Given the description of an element on the screen output the (x, y) to click on. 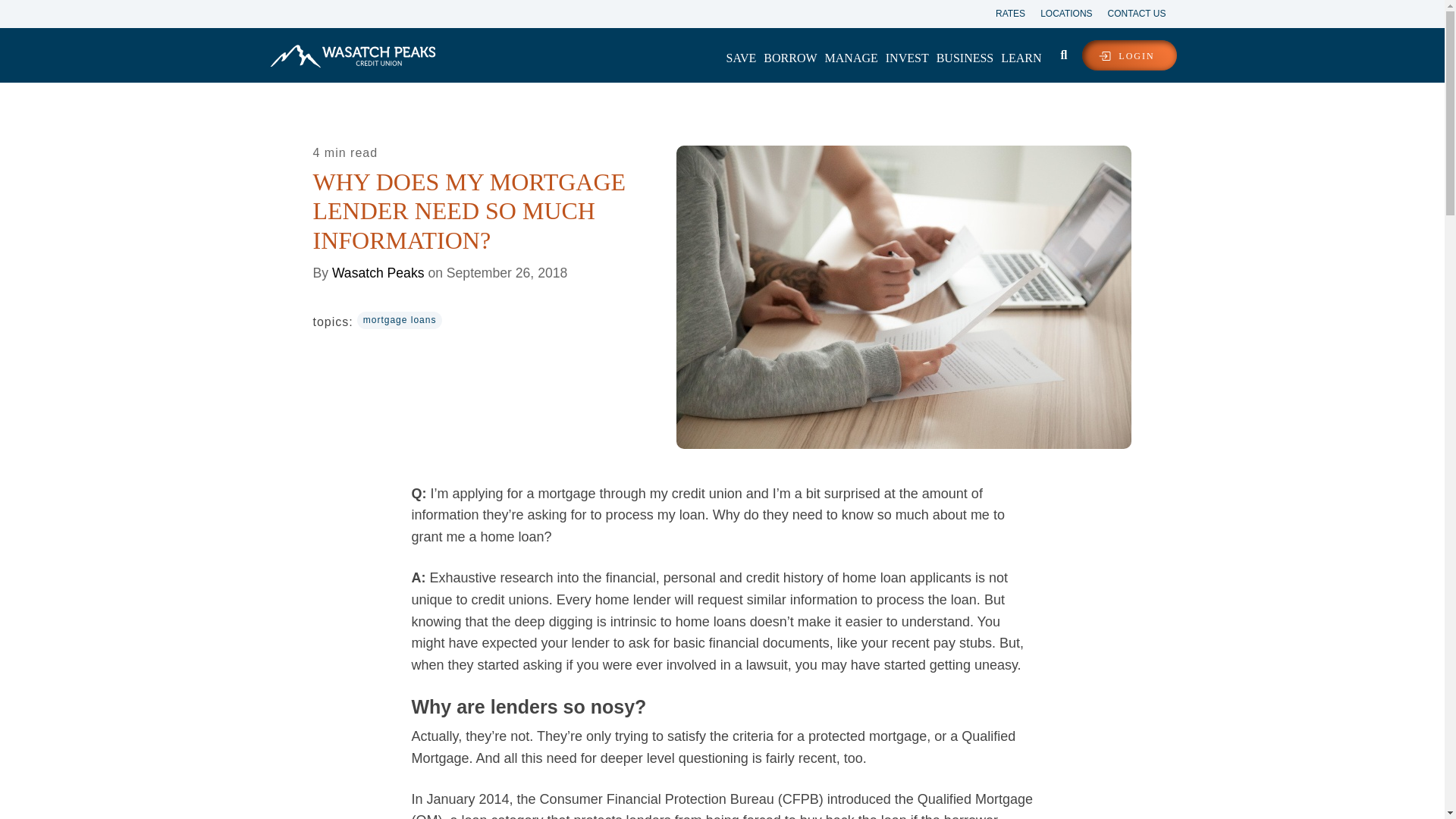
LOCATIONS (1058, 12)
CONTACT US (1129, 12)
LOGIN (1128, 55)
SAVE (741, 58)
RATES (1002, 12)
BORROW (790, 58)
